Given the description of an element on the screen output the (x, y) to click on. 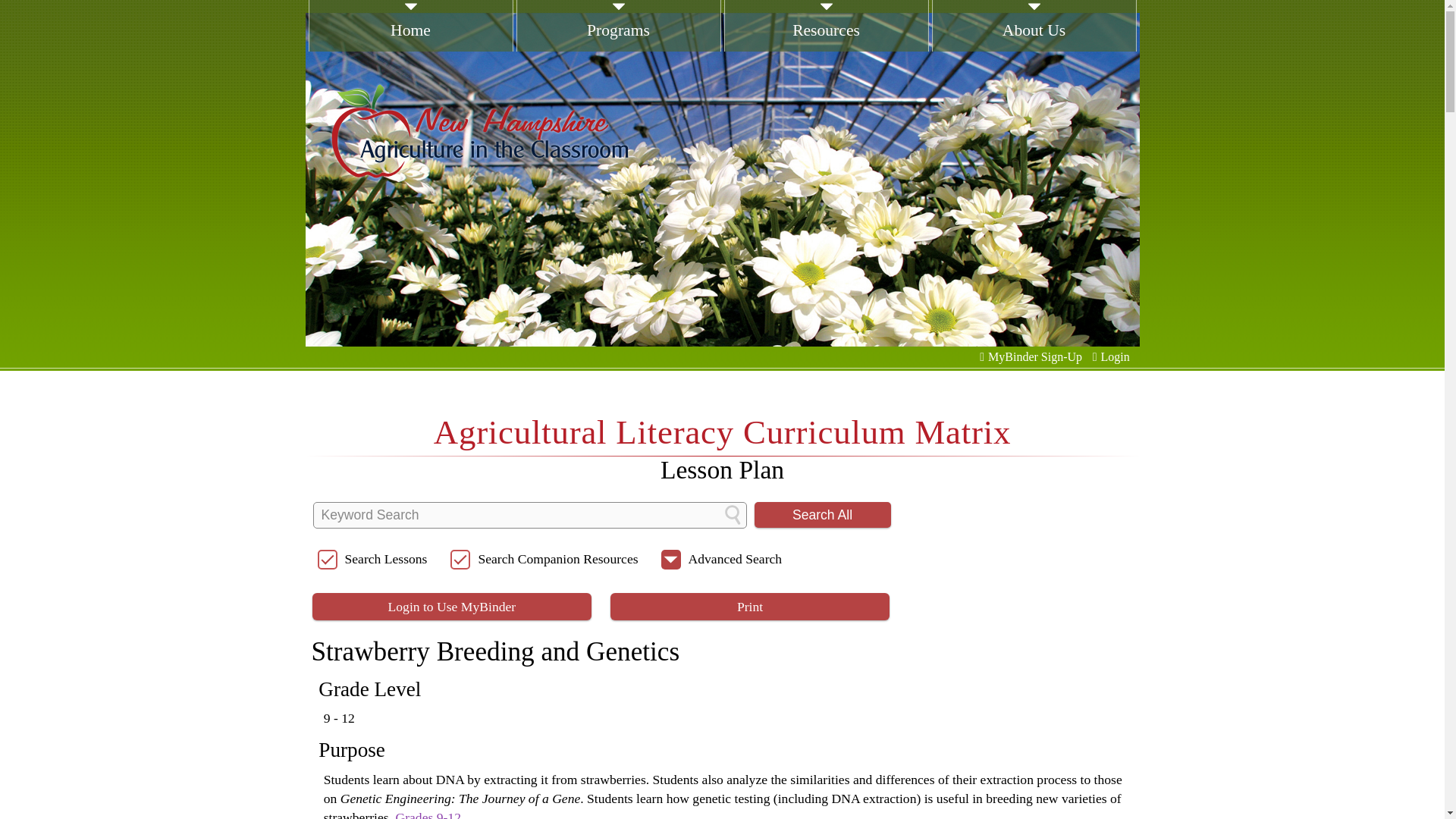
Programs (617, 42)
About Us (1033, 42)
Home (409, 42)
Resources (825, 42)
Search All (821, 514)
Search All (821, 514)
New Hampshire Agriculture in the Classroom (478, 130)
01 (152, 179)
